Given the description of an element on the screen output the (x, y) to click on. 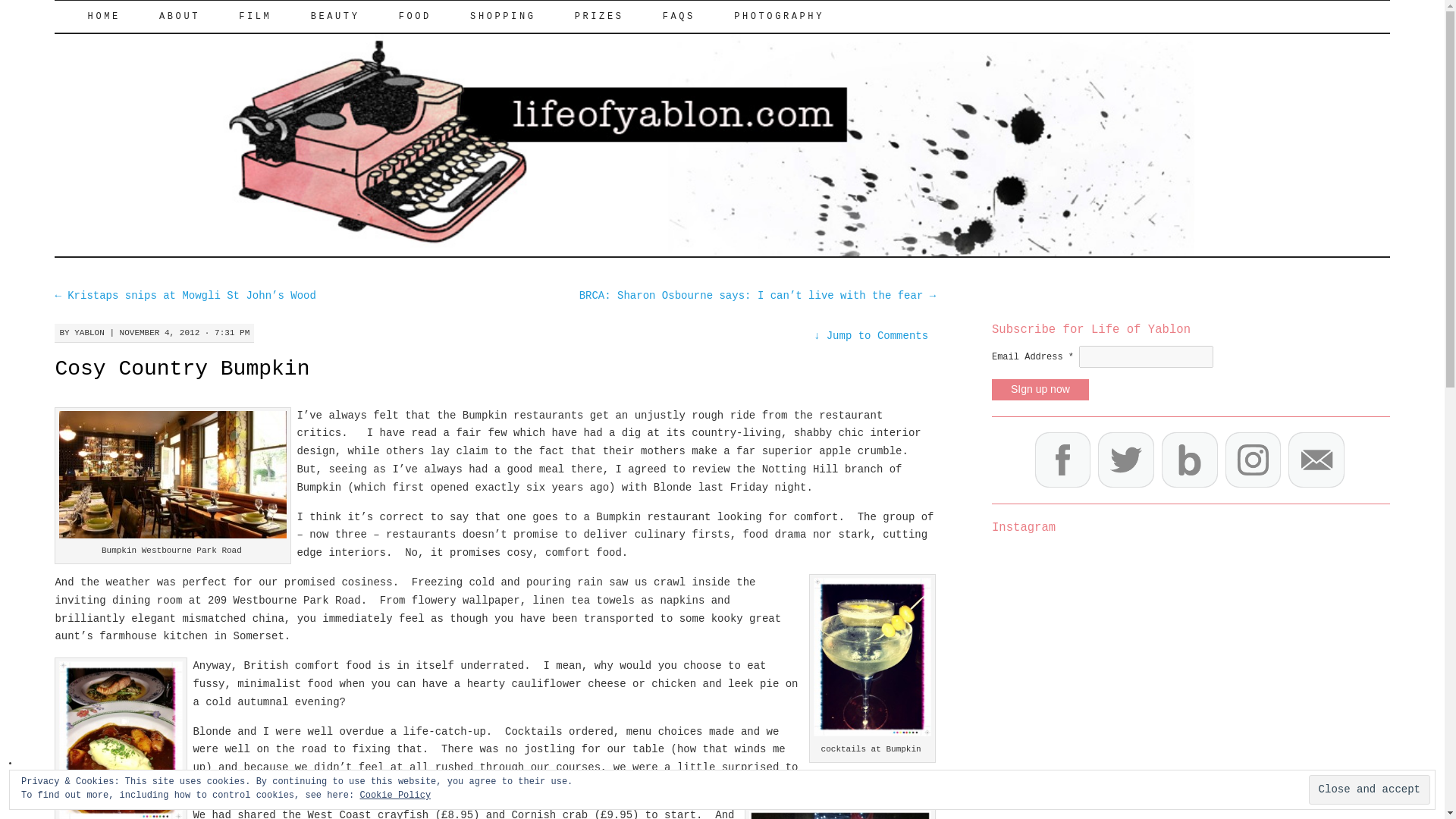
YABLON (89, 332)
View all posts by yablon (89, 332)
lifeofyablon.com (200, 26)
FILM (255, 16)
PHOTOGRAPHY (778, 16)
PRIZES (599, 16)
SHOPPING (502, 16)
ABOUT (179, 16)
photo001 (172, 474)
lifeofyablon.com (200, 26)
FAQS (678, 16)
SIgn up now (1040, 389)
Close and accept (1368, 789)
BEAUTY (335, 16)
FOOD (415, 16)
